Given the description of an element on the screen output the (x, y) to click on. 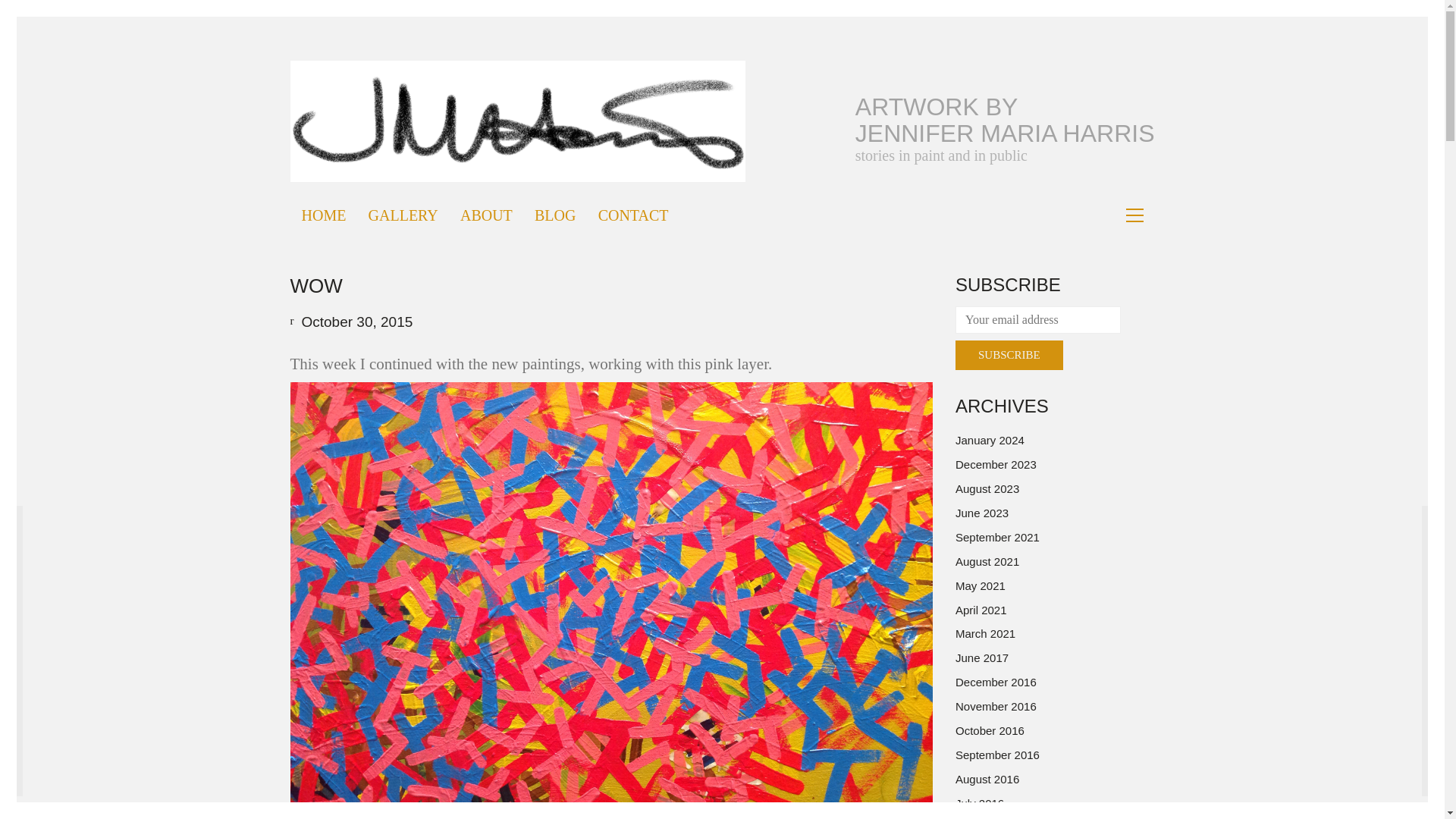
September 2021 (997, 537)
SUBSCRIBE (1008, 355)
ABOUT (486, 215)
August 2021 (987, 561)
CONTACT (633, 215)
BLOG (554, 215)
January 2024 (990, 440)
June 2023 (982, 513)
HOME (323, 215)
GALLERY (403, 215)
